Given the description of an element on the screen output the (x, y) to click on. 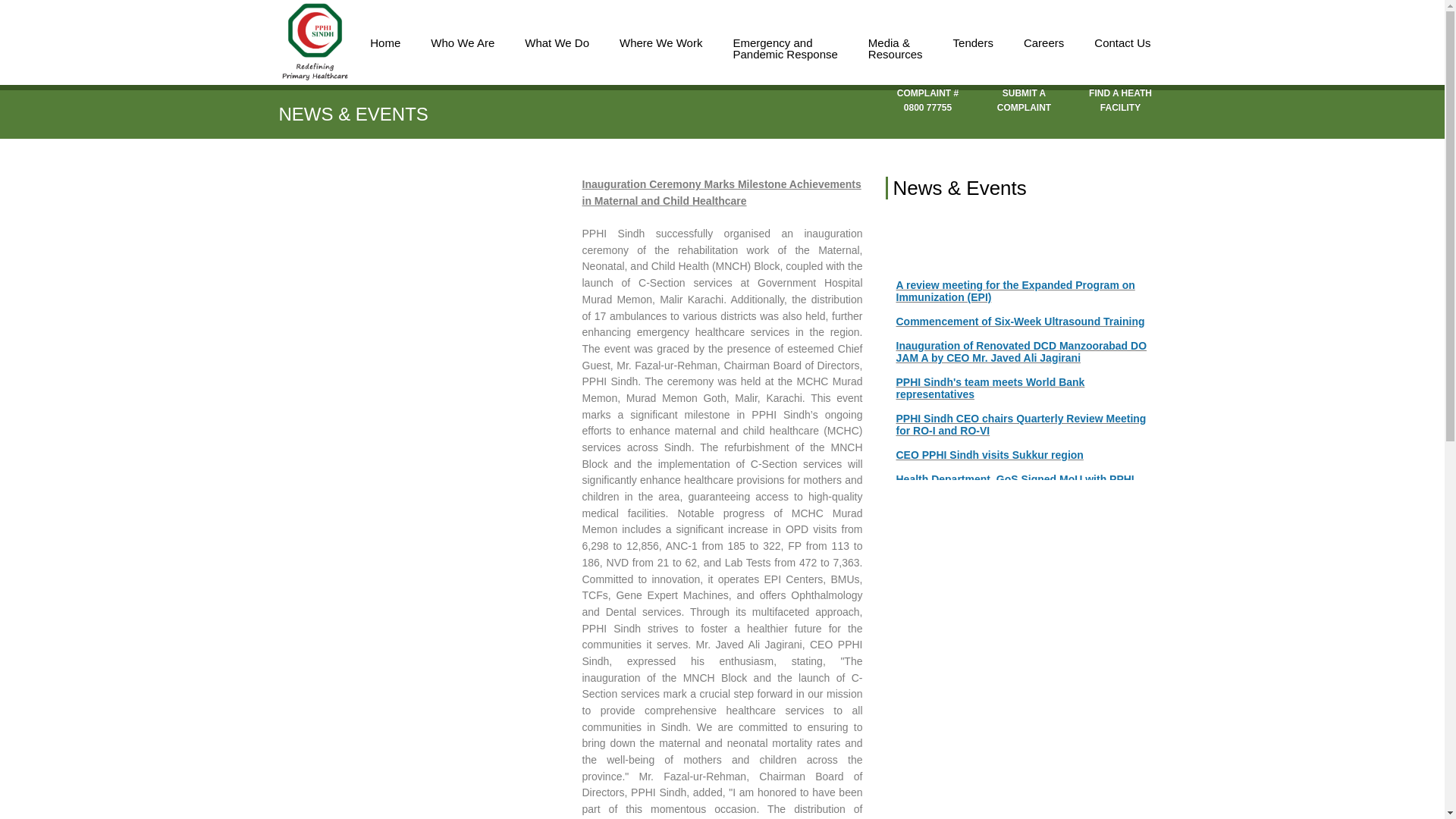
Commencement of Six-Week Ultrasound Training (1026, 427)
Who We Are (461, 34)
What We Do (556, 34)
